Given the description of an element on the screen output the (x, y) to click on. 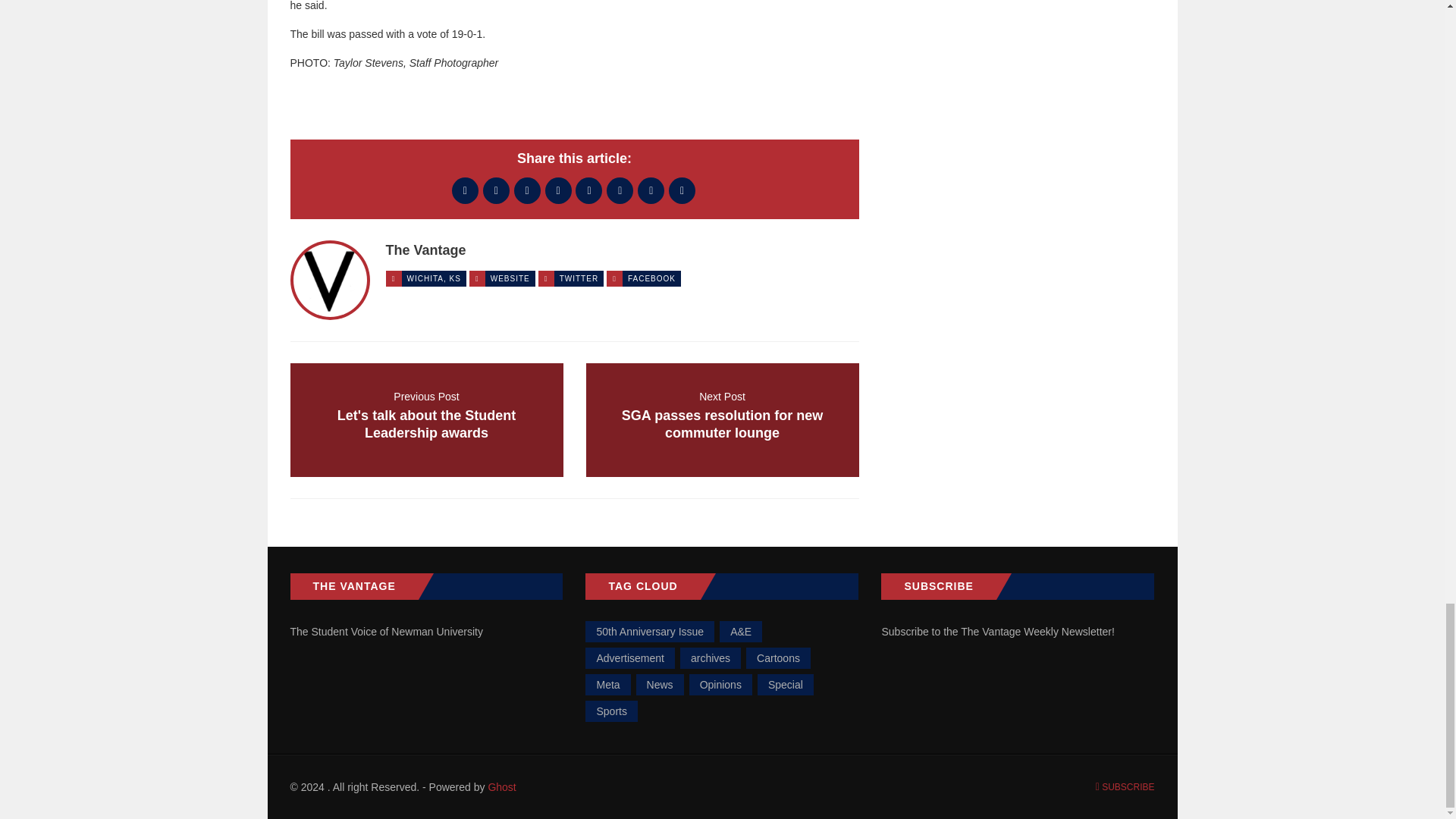
Twitter (496, 190)
FACEBOOK (651, 278)
TWITTER (578, 278)
Facebook (465, 190)
The Vantage (425, 249)
Pinterest (425, 419)
StumbleUpon (650, 190)
Linkedin (681, 190)
WEBSITE (620, 190)
